Given the description of an element on the screen output the (x, y) to click on. 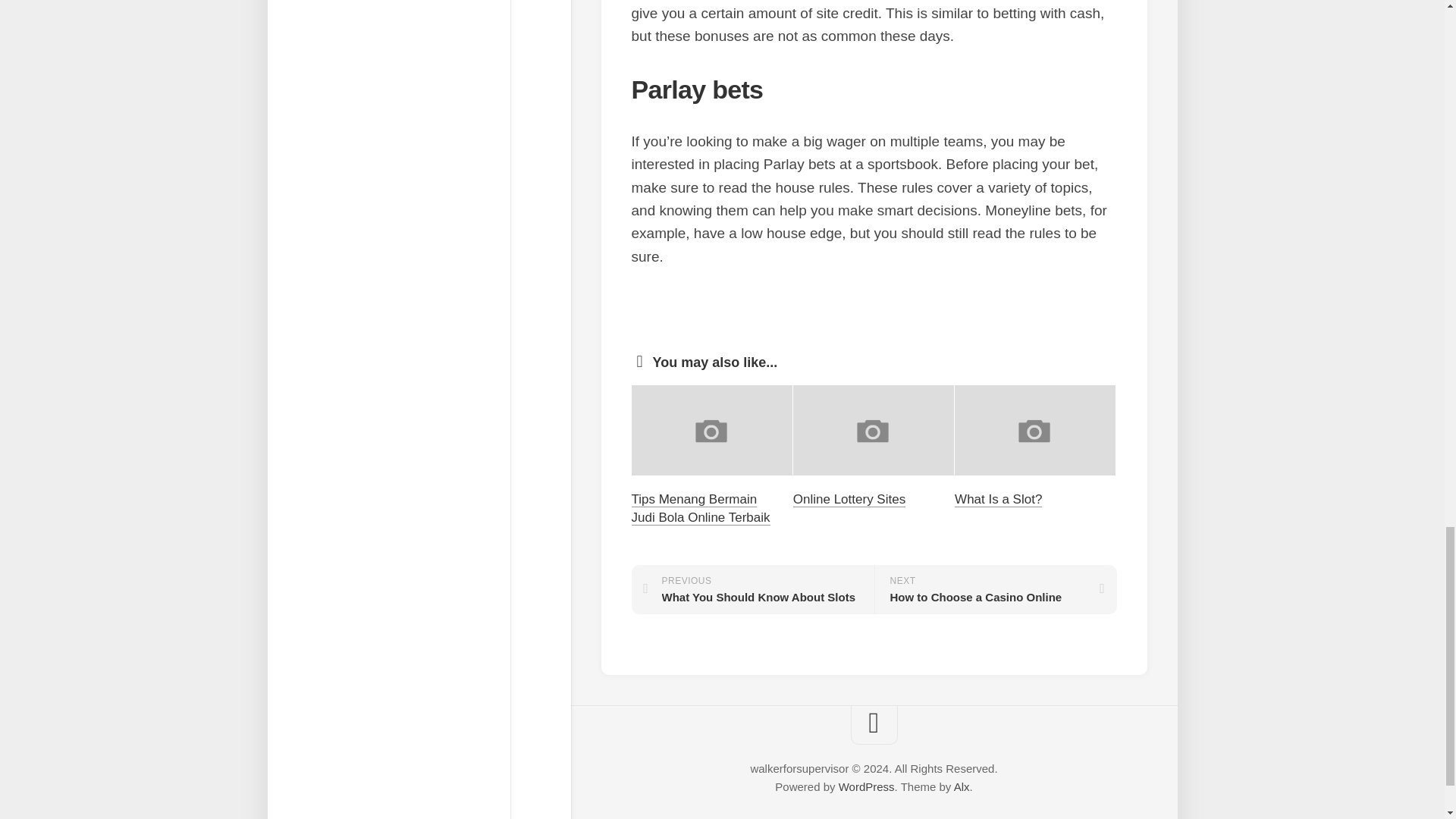
Alx (961, 786)
Tips Menang Bermain Judi Bola Online Terbaik (700, 508)
WordPress (866, 786)
What Is a Slot? (998, 499)
Online Lottery Sites (849, 499)
